Given the description of an element on the screen output the (x, y) to click on. 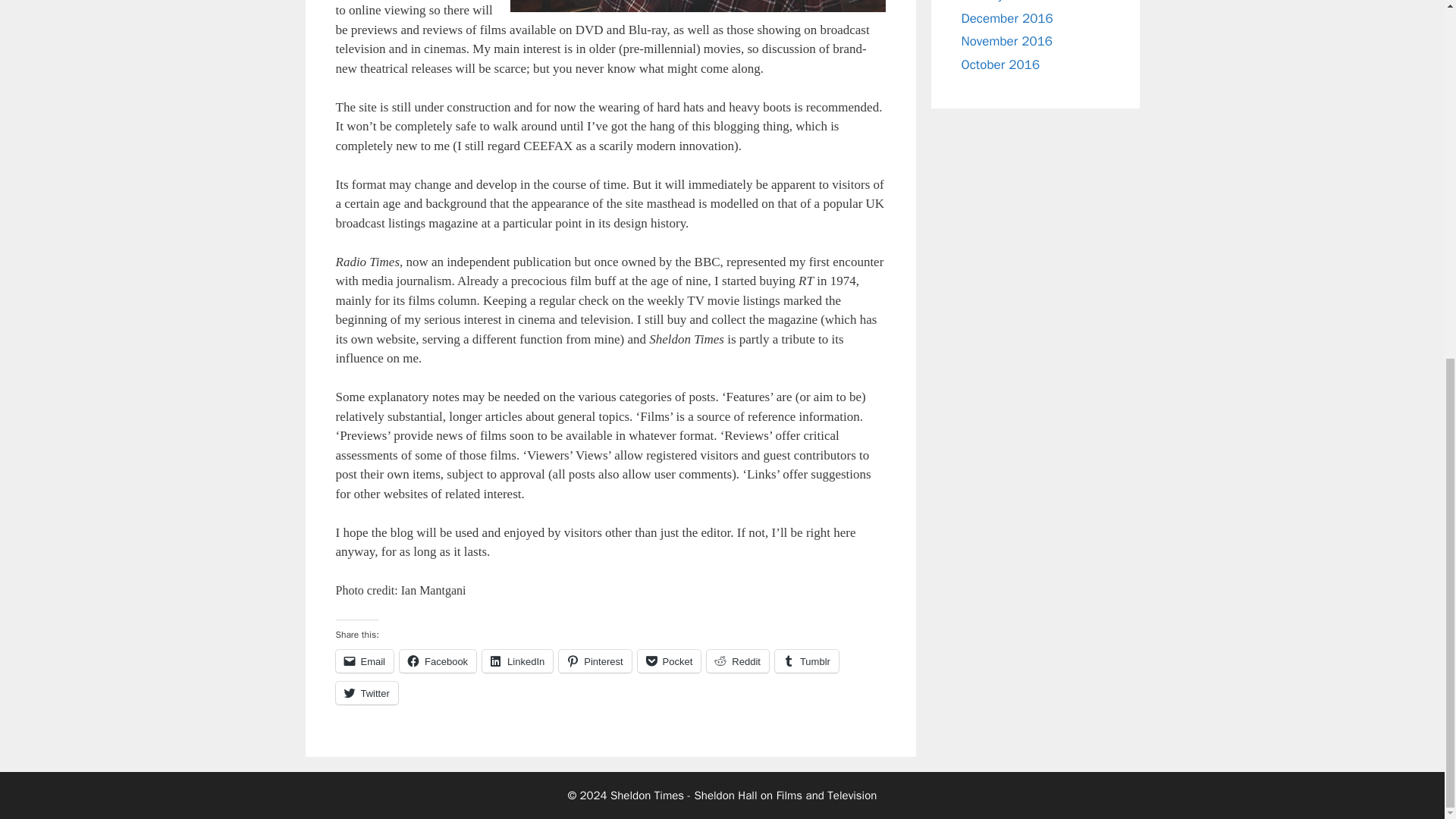
Click to share on Reddit (737, 661)
Click to share on Pocket (669, 661)
January 2017 (999, 1)
Click to share on LinkedIn (517, 661)
Click to share on Tumblr (806, 661)
LinkedIn (517, 661)
December 2016 (1006, 17)
Email (363, 661)
Click to share on Facebook (437, 661)
Reddit (737, 661)
October 2016 (1000, 64)
Pocket (669, 661)
Click to share on Twitter (365, 692)
Click to share on Pinterest (594, 661)
Pinterest (594, 661)
